Given the description of an element on the screen output the (x, y) to click on. 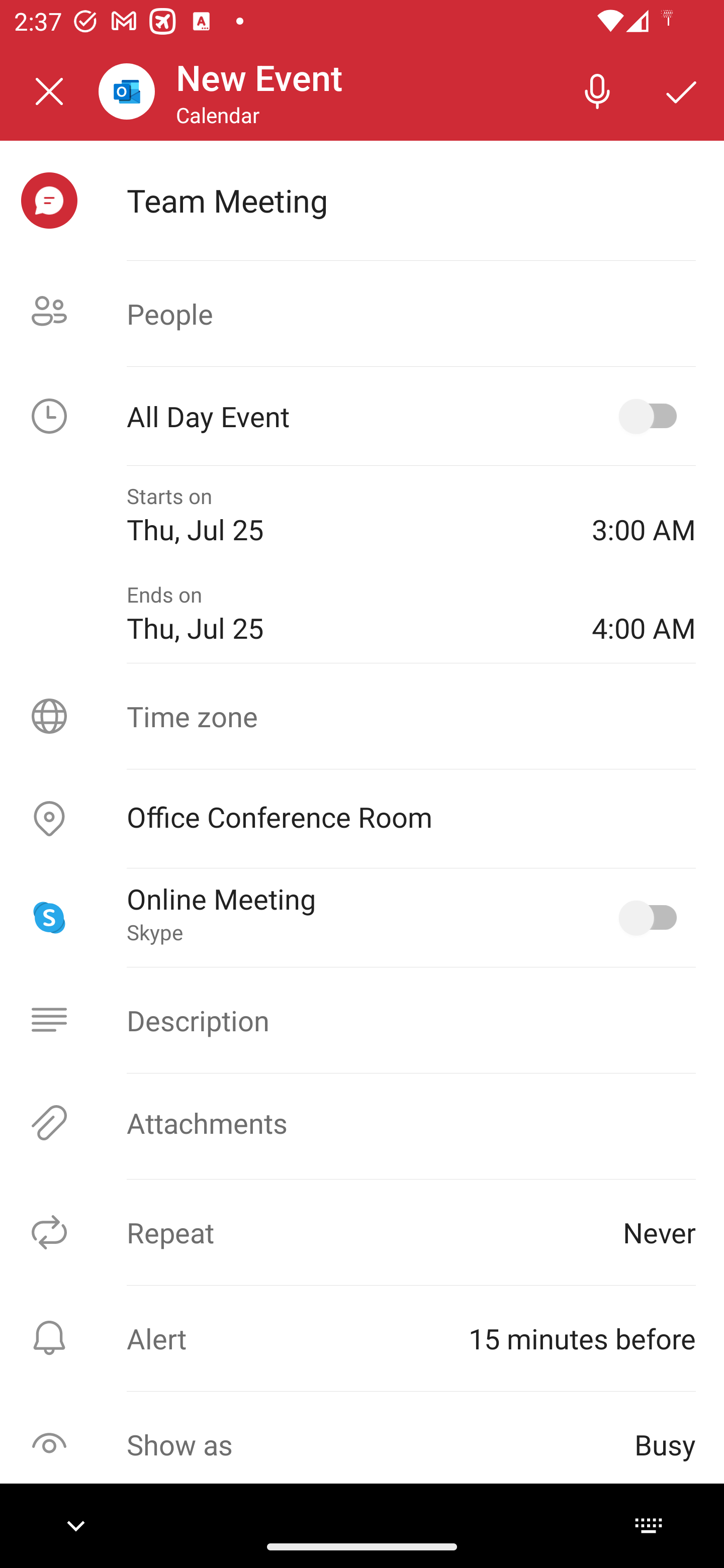
Close (49, 91)
Save (681, 90)
Team Meeting (410, 200)
meeting selected, event icon picker (48, 200)
People (362, 313)
All Day Event (362, 415)
Starts on Thu, Jul 25 (344, 514)
3:00 AM (643, 514)
Ends on Thu, Jul 25 (344, 613)
4:00 AM (643, 613)
Time zone (362, 715)
Online Meeting, Skype selected (651, 917)
Description (362, 1019)
Attachments (362, 1122)
Repeat Never (362, 1232)
Alert ⁨15 minutes before (362, 1337)
Show as Busy (362, 1444)
